Given the description of an element on the screen output the (x, y) to click on. 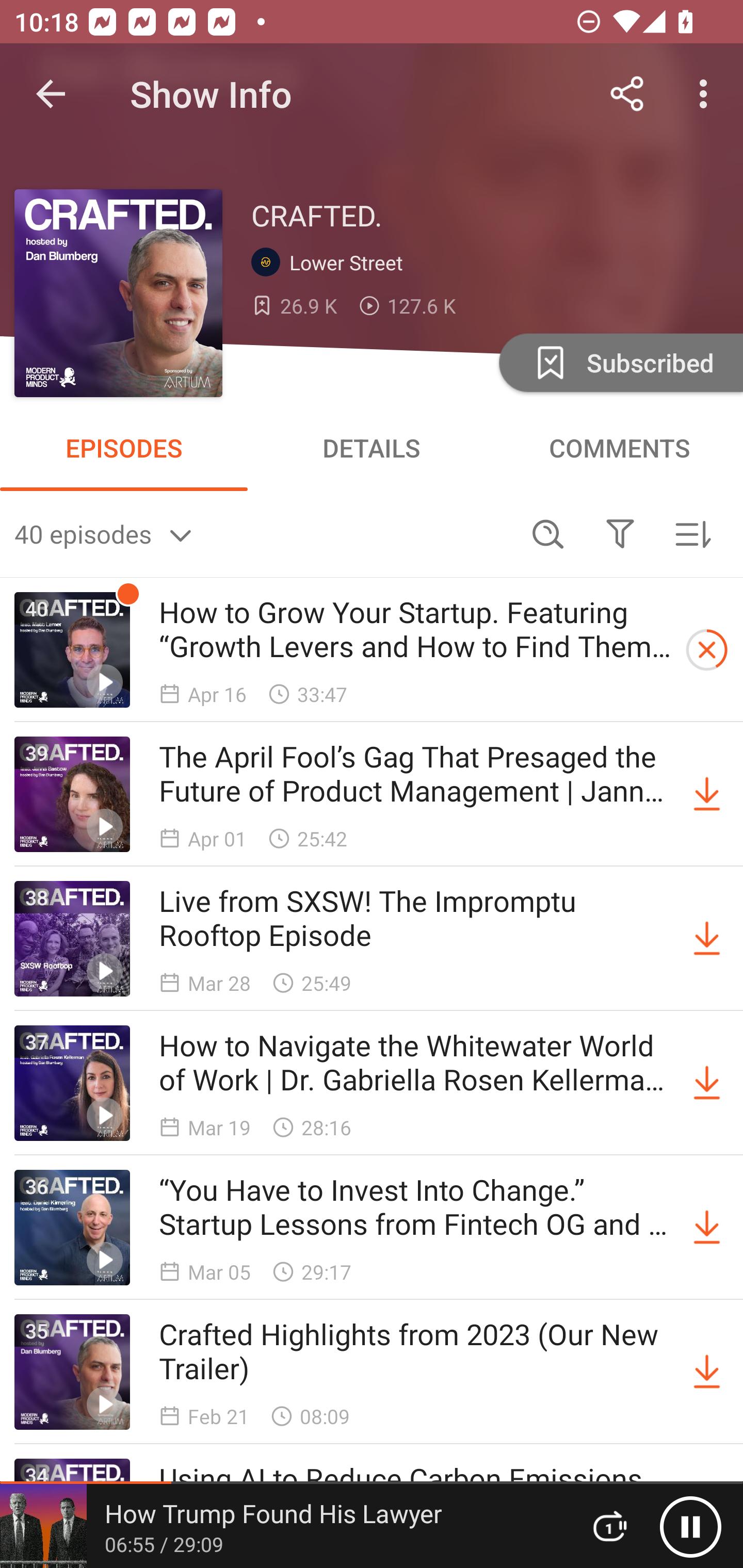
Navigate up (50, 93)
Share (626, 93)
More options (706, 93)
Lower Street (331, 262)
Unsubscribe Subscribed (619, 361)
EPISODES (123, 447)
DETAILS (371, 447)
COMMENTS (619, 447)
40 episodes  (262, 533)
 Search (547, 533)
 (619, 533)
 Sorted by newest first (692, 533)
Cancel Downloading (706, 649)
Download (706, 793)
Download (706, 939)
Download (706, 1083)
Download (706, 1227)
Download (706, 1371)
How Trump Found His Lawyer 06:55 / 29:09 (283, 1525)
Pause (690, 1526)
